Given the description of an element on the screen output the (x, y) to click on. 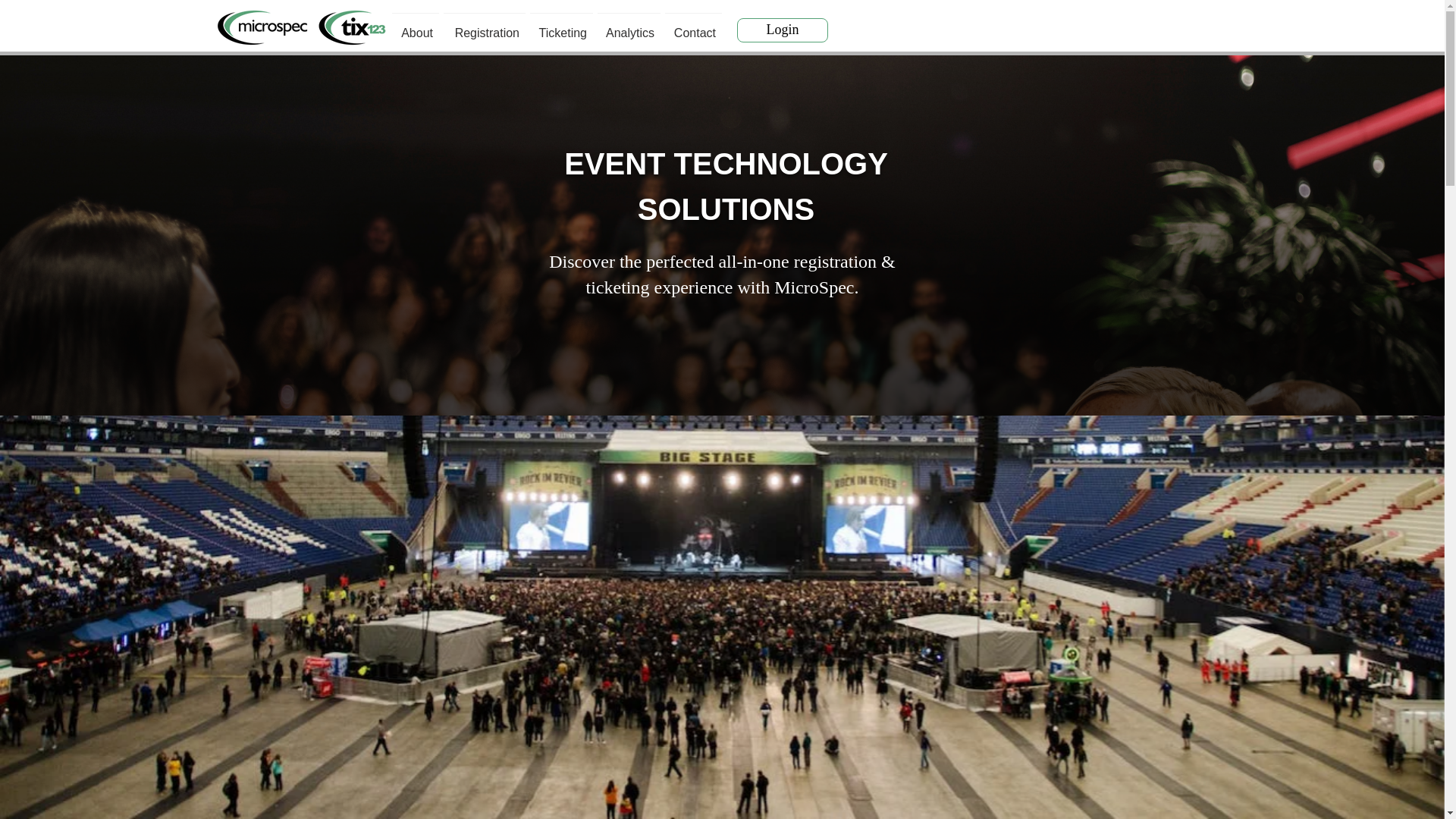
Login (782, 30)
Registration (484, 26)
About (415, 26)
Analytics (628, 26)
Contact (692, 26)
Ticketing (561, 26)
